Given the description of an element on the screen output the (x, y) to click on. 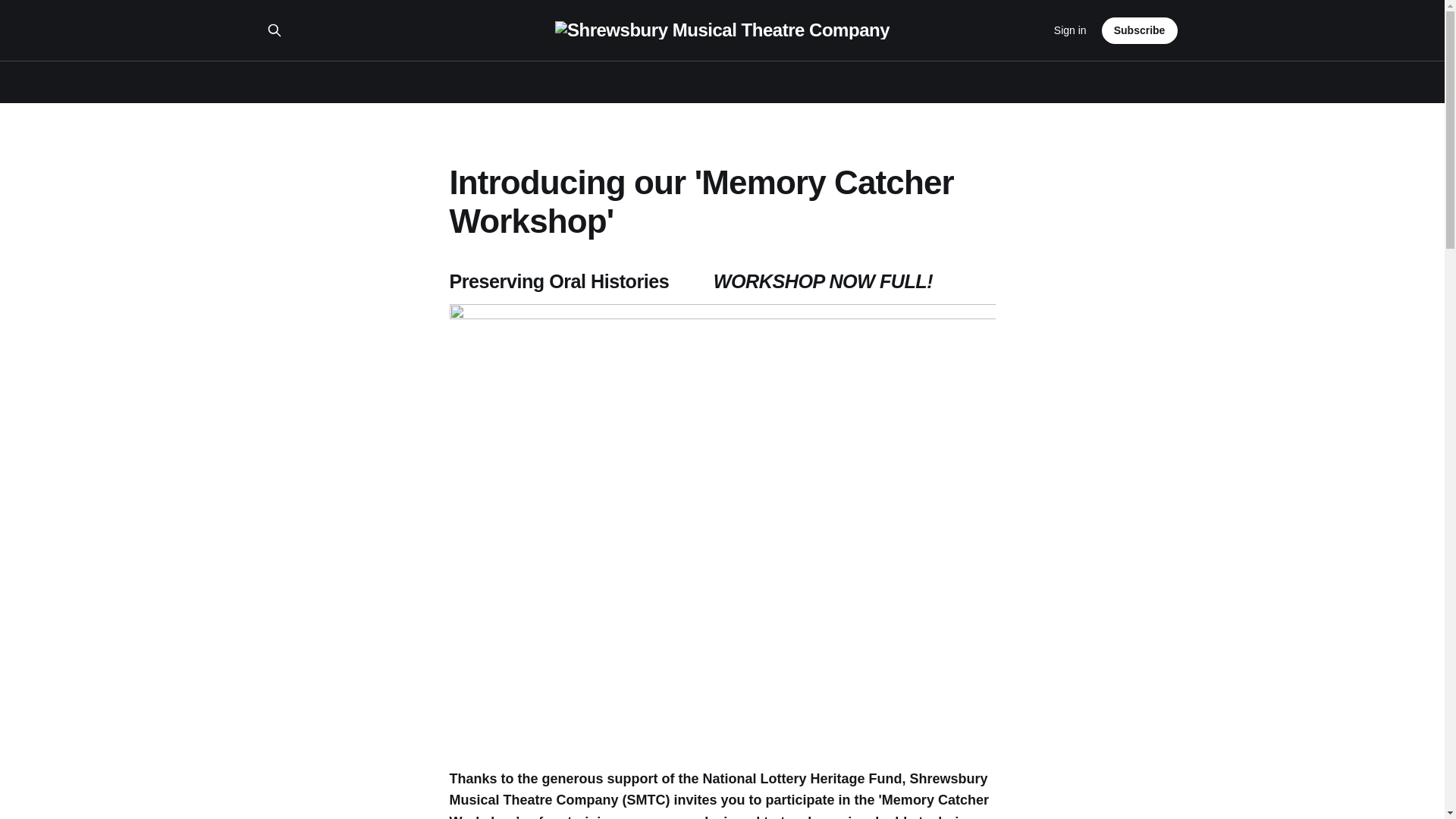
Sign in (1070, 30)
Subscribe (1139, 29)
